Given the description of an element on the screen output the (x, y) to click on. 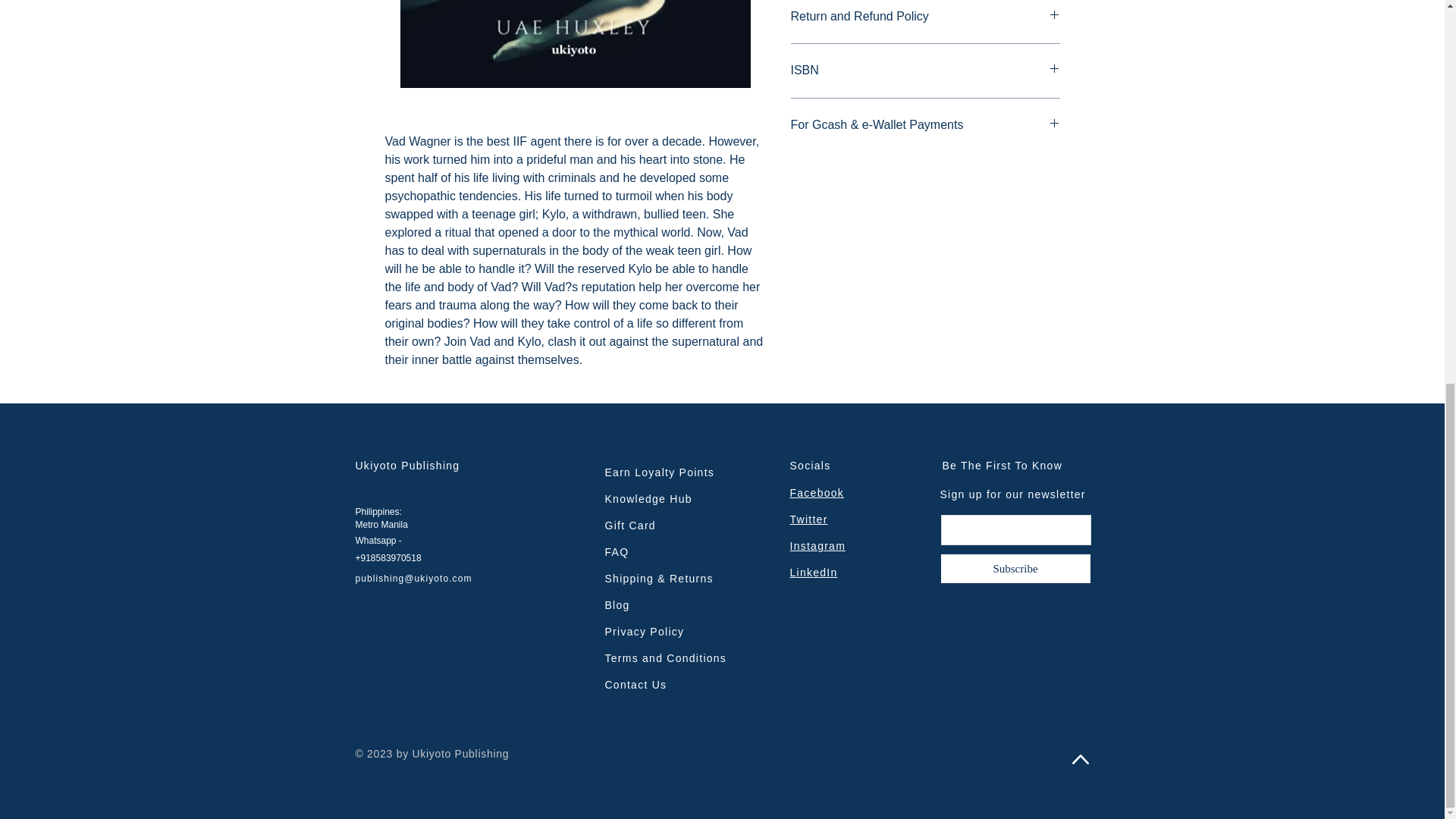
Subscribe (1016, 568)
Privacy Policy (644, 631)
ISBN (924, 70)
Contact Us (635, 684)
Knowledge Hub (649, 499)
Return and Refund Policy (924, 16)
Instagram (817, 545)
LinkedIn (814, 572)
Earn Loyalty Points (659, 472)
Gift Card (630, 525)
